Given the description of an element on the screen output the (x, y) to click on. 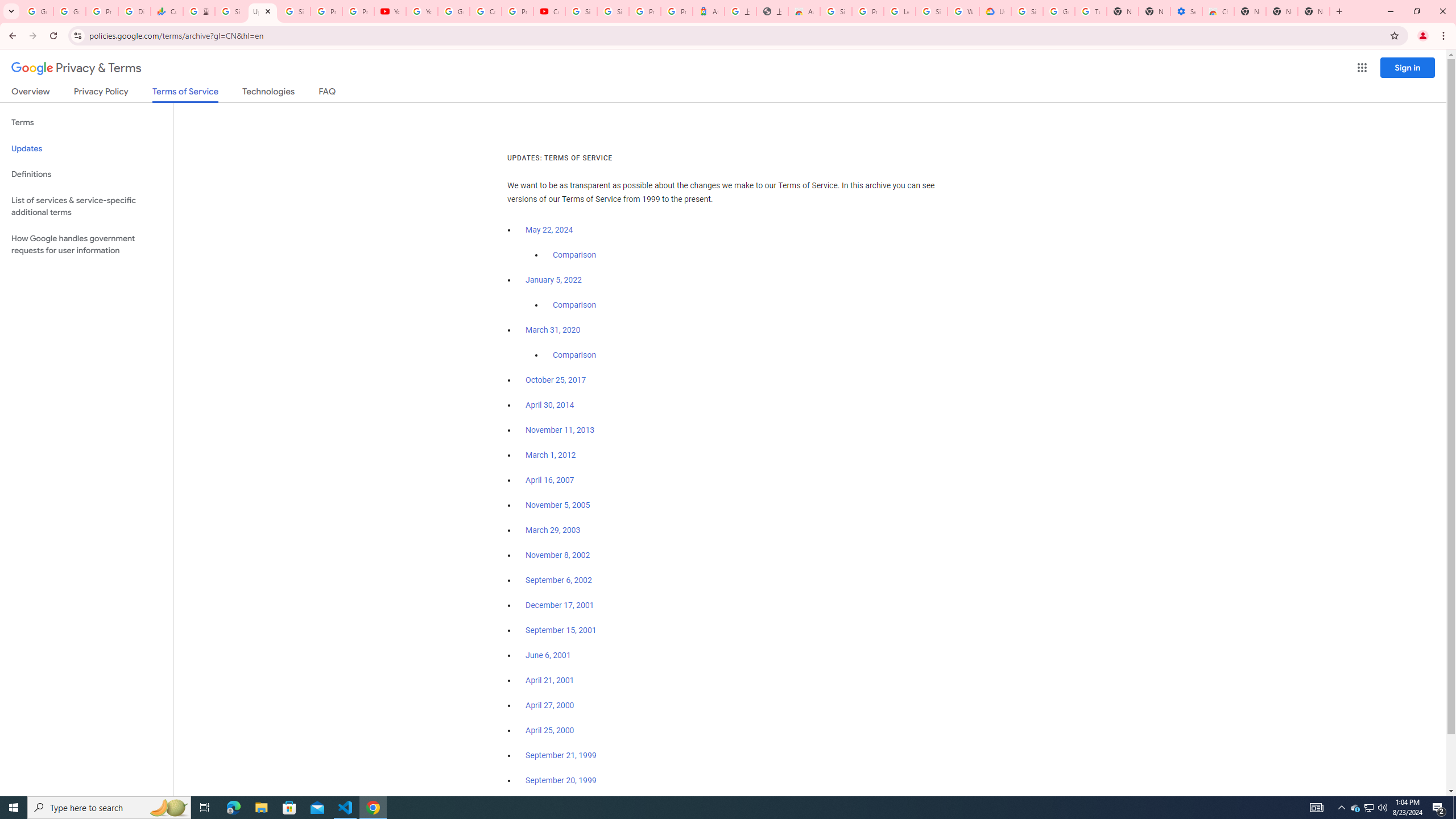
April 25, 2000 (550, 729)
September 15, 2001 (560, 629)
New Tab (1313, 11)
Sign in - Google Accounts (230, 11)
Google Account Help (453, 11)
Sign in - Google Accounts (836, 11)
October 25, 2017 (555, 380)
